Given the description of an element on the screen output the (x, y) to click on. 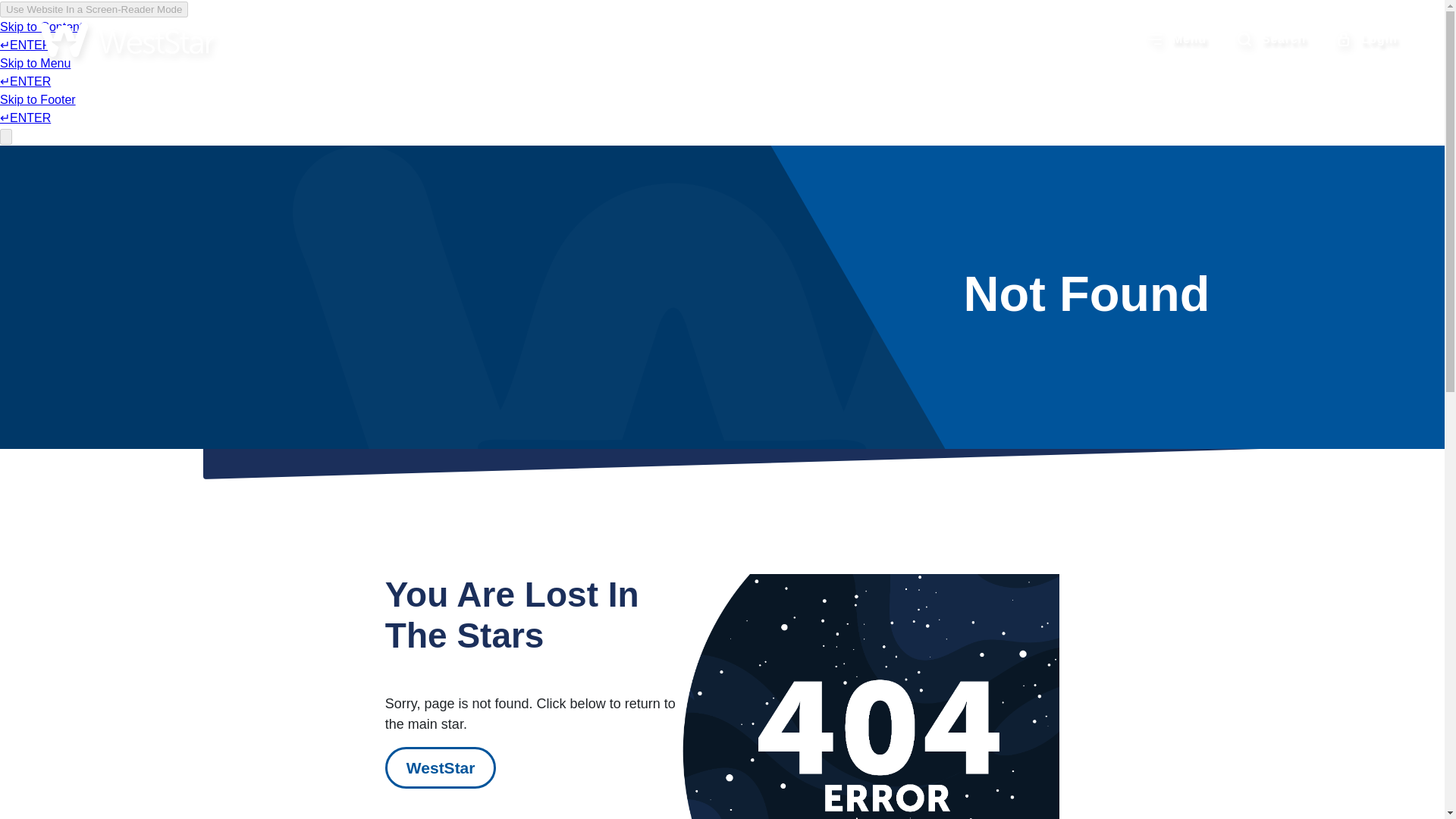
Toggle Banking Login (1367, 39)
Menu (1177, 39)
Toggle Site Search (1272, 39)
Search (1272, 39)
Login (1367, 39)
Toggle Site Navigation (1177, 39)
WestStar Bank, El Paso, TX (126, 39)
